Given the description of an element on the screen output the (x, y) to click on. 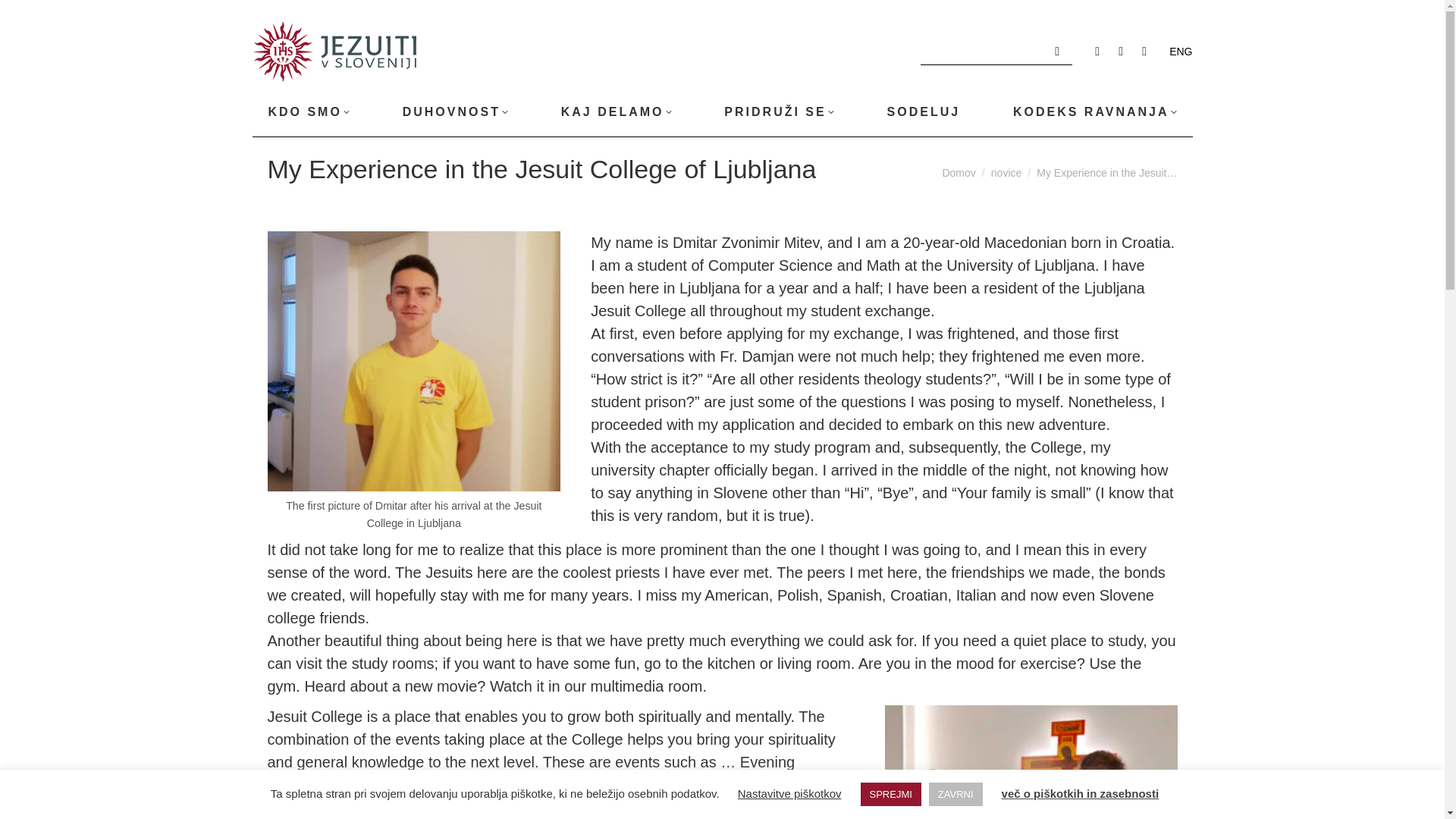
KDO SMO (308, 111)
Mail page opens in new window (1144, 51)
YouTube page opens in new window (1120, 51)
ENG (1180, 51)
KODEKS RAVNANJA (1094, 111)
DUHOVNOST (455, 111)
Mail page opens in new window (1144, 51)
Domov (958, 173)
YouTube page opens in new window (1120, 51)
SODELUJ (922, 111)
